Given the description of an element on the screen output the (x, y) to click on. 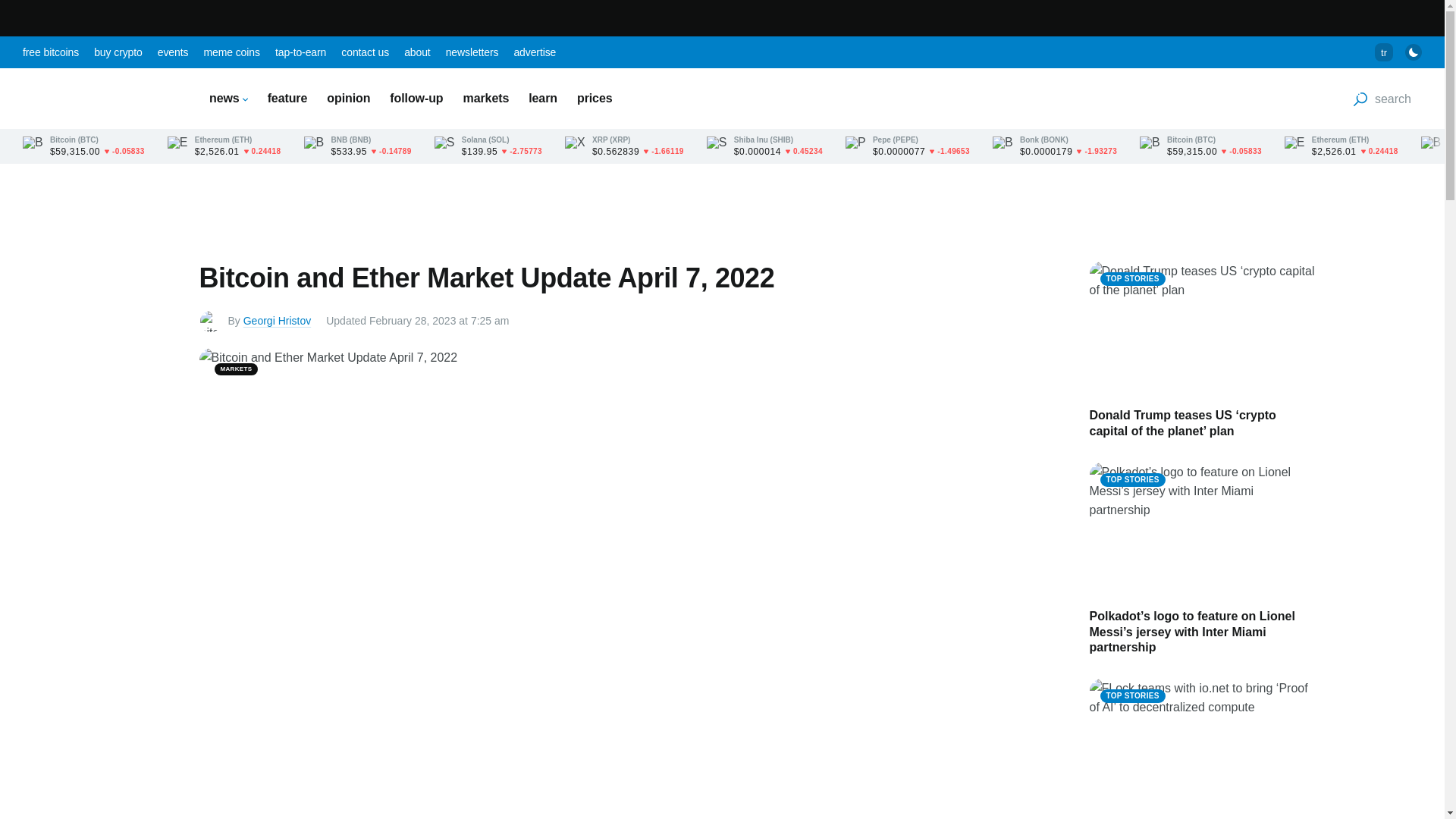
about (417, 51)
contact us (364, 51)
newsletters (472, 51)
meme coins (231, 51)
markets (486, 97)
tr (1383, 52)
BNB price (356, 145)
advertise (534, 51)
free bitcoins (50, 51)
events (173, 51)
